Given the description of an element on the screen output the (x, y) to click on. 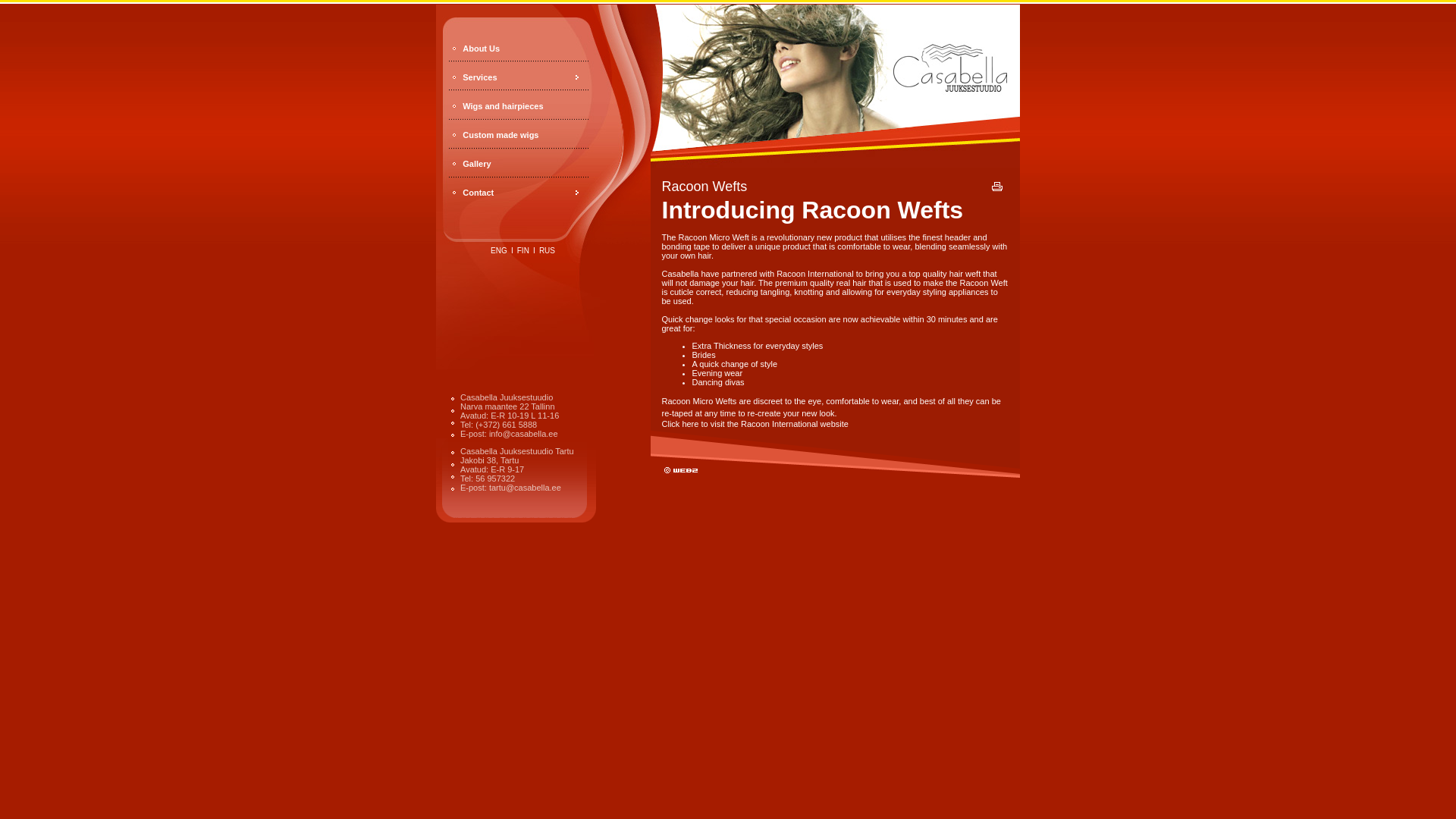
Wigs and hairpieces (503, 105)
Contact (478, 192)
Click here (679, 423)
Racoon Wefts (797, 186)
FIN (522, 250)
RUS (546, 250)
Custom made wigs (500, 134)
Services (479, 76)
Gallery (476, 163)
ENG (498, 250)
